Given the description of an element on the screen output the (x, y) to click on. 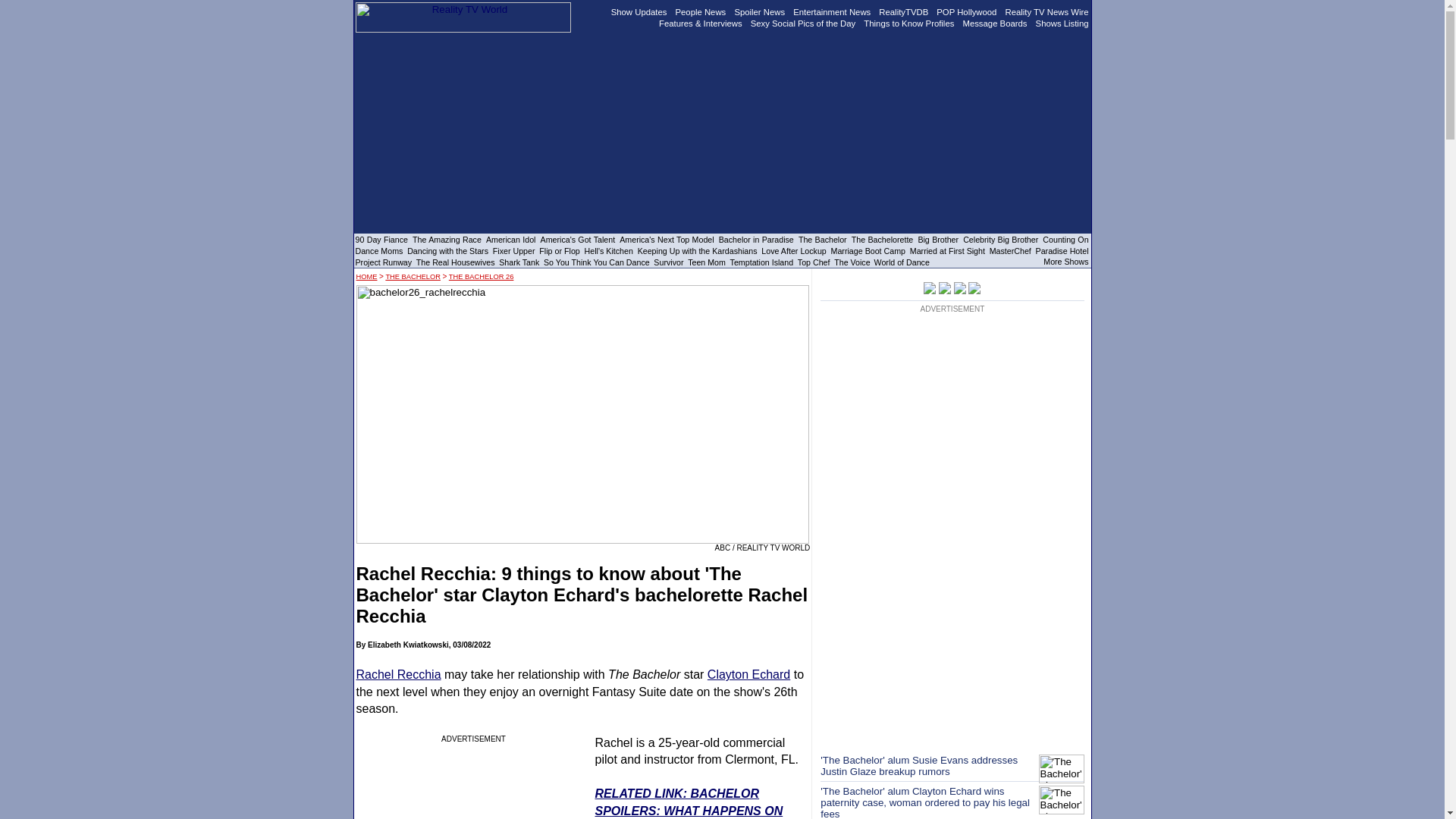
Marriage Boot Camp (868, 250)
Counting On (1064, 239)
Show Updates (638, 11)
Entertainment News (831, 11)
Big Brother (937, 239)
The Amazing Race (446, 239)
The Bachelorette (882, 239)
Spoiler News (758, 11)
POP Hollywood (965, 11)
Reality TV News Wire (1047, 11)
